Given the description of an element on the screen output the (x, y) to click on. 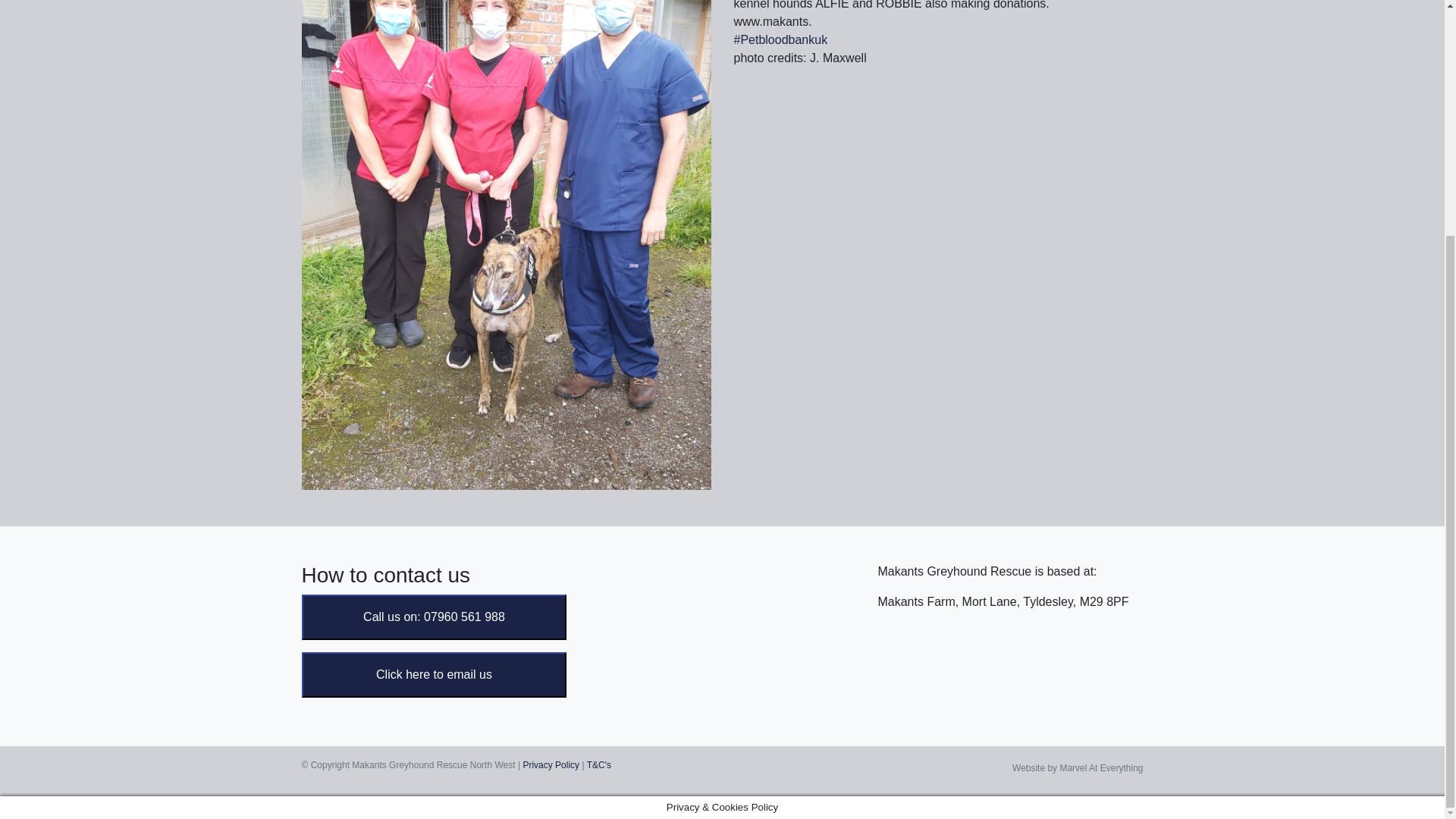
Click here to email us (434, 674)
Call us on: 07960 561 988 (434, 616)
Website by Marvel At Everything (1076, 767)
Privacy Policy (550, 765)
Call us on: 07960 561 988 (434, 616)
Click here to email us (434, 674)
